Given the description of an element on the screen output the (x, y) to click on. 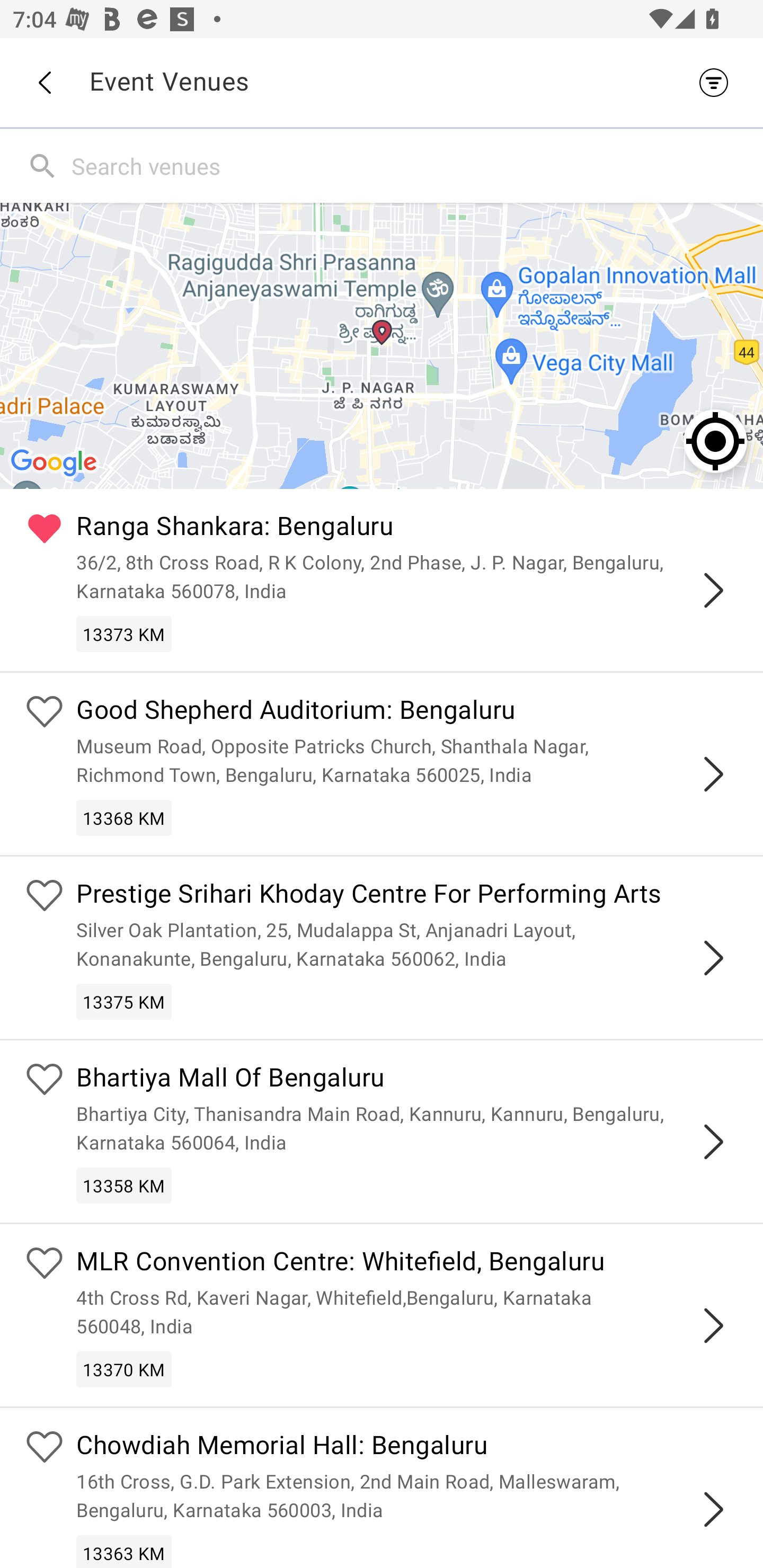
Back Event Venues Filter (381, 82)
Filter (718, 82)
Back (44, 82)
Search venues (413, 165)
Google Map Ranga Shankara: Bengaluru (381, 345)
Ranga Shankara: Bengaluru (406, 528)
 (713, 590)
13373 KM (123, 634)
Good Shepherd Auditorium: Bengaluru (406, 711)
 (713, 773)
13368 KM (123, 817)
Prestige Srihari Khoday Centre For Performing Arts (406, 894)
 (713, 957)
13375 KM (123, 1001)
Bhartiya Mall Of Bengaluru (406, 1079)
 (713, 1141)
13358 KM (123, 1186)
MLR Convention Centre: Whitefield, Bengaluru (406, 1263)
 (713, 1325)
13370 KM (123, 1369)
Chowdiah Memorial Hall: Bengaluru (406, 1446)
 (713, 1508)
13363 KM (123, 1551)
